Given the description of an element on the screen output the (x, y) to click on. 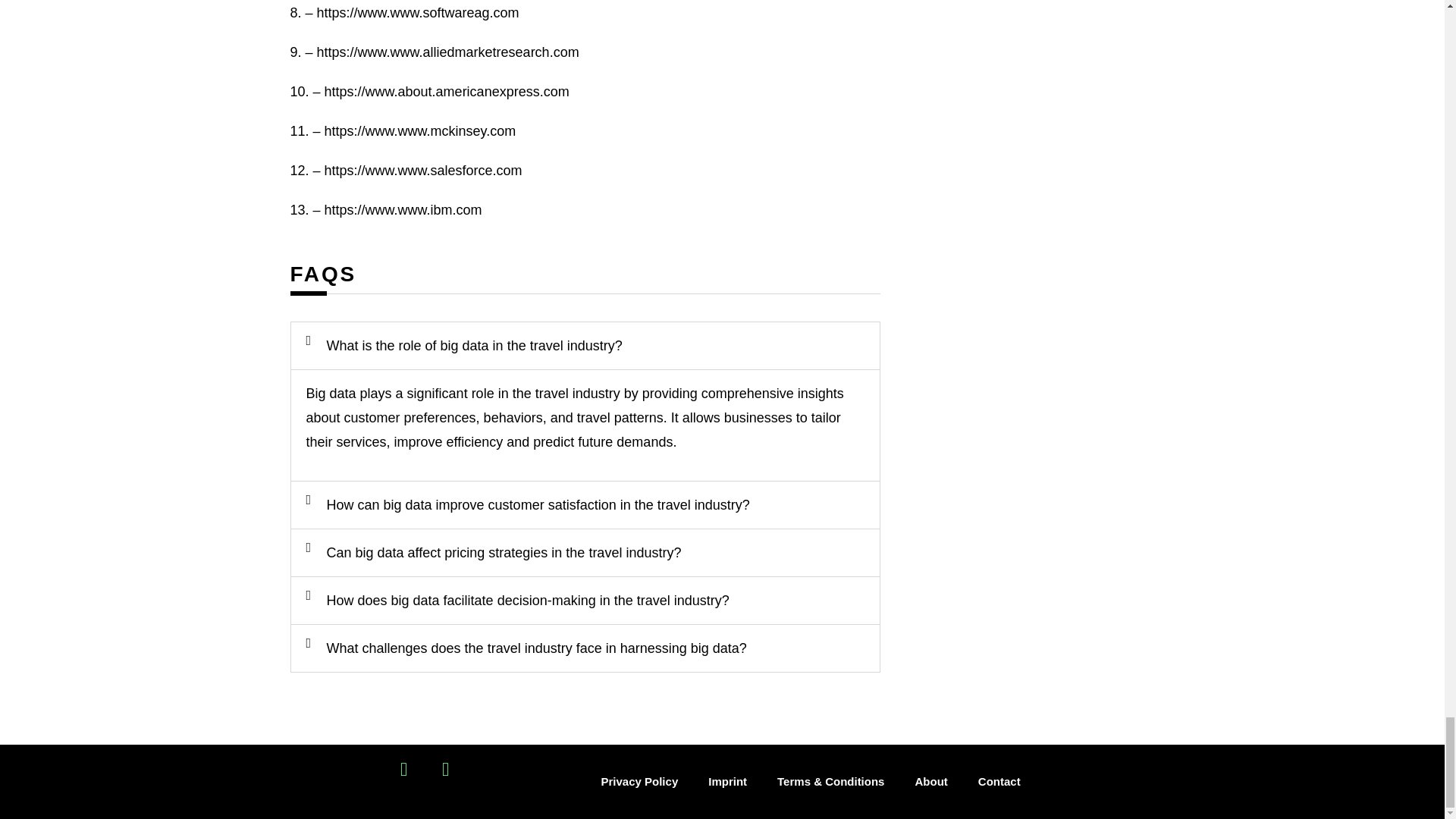
What is the role of big data in the travel industry? (473, 345)
About (930, 781)
Imprint (727, 781)
Contact (998, 781)
Privacy Policy (639, 781)
